Given the description of an element on the screen output the (x, y) to click on. 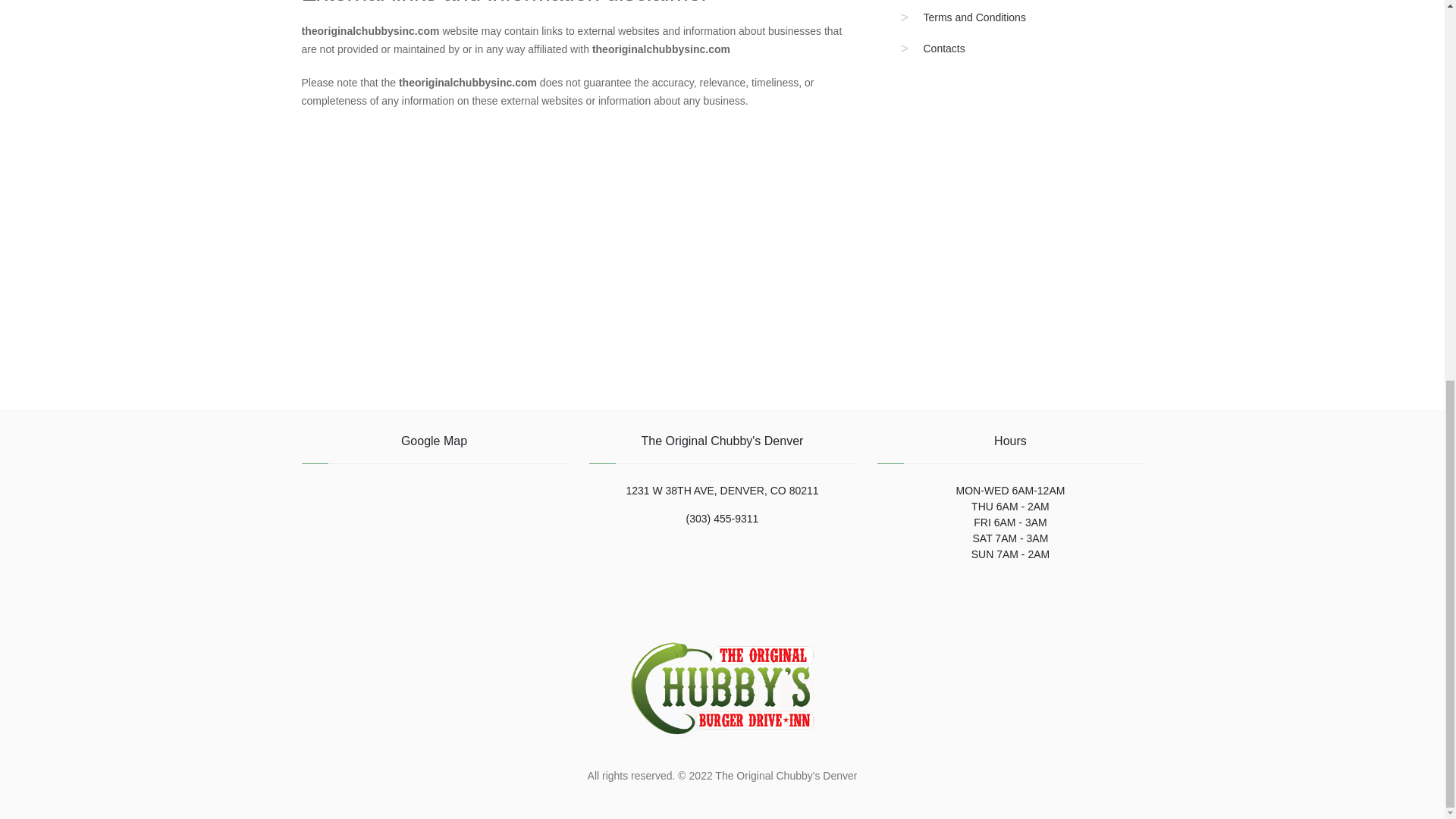
Terms and Conditions (974, 17)
Contacts (944, 48)
